Given the description of an element on the screen output the (x, y) to click on. 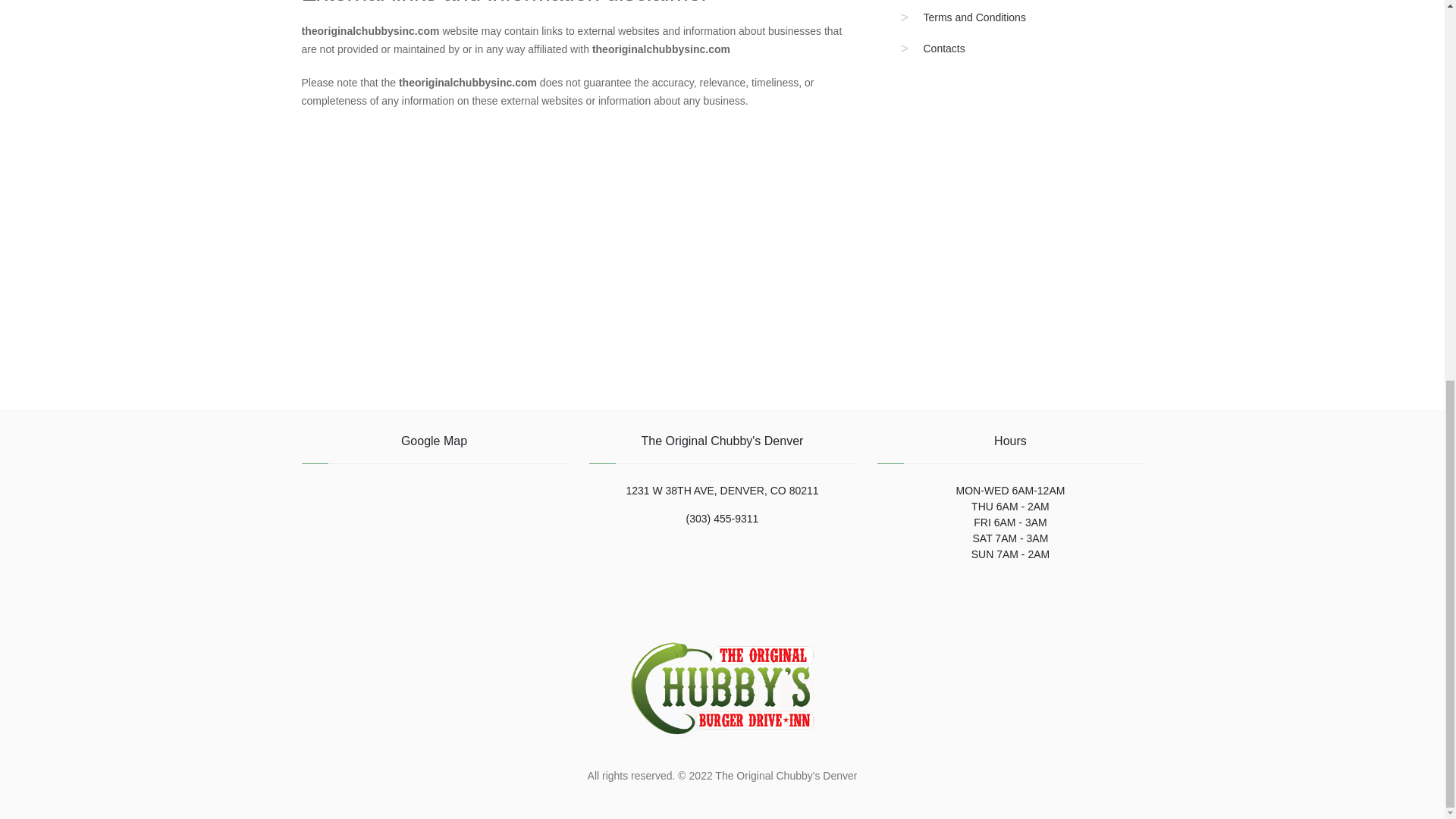
Terms and Conditions (974, 17)
Contacts (944, 48)
